Given the description of an element on the screen output the (x, y) to click on. 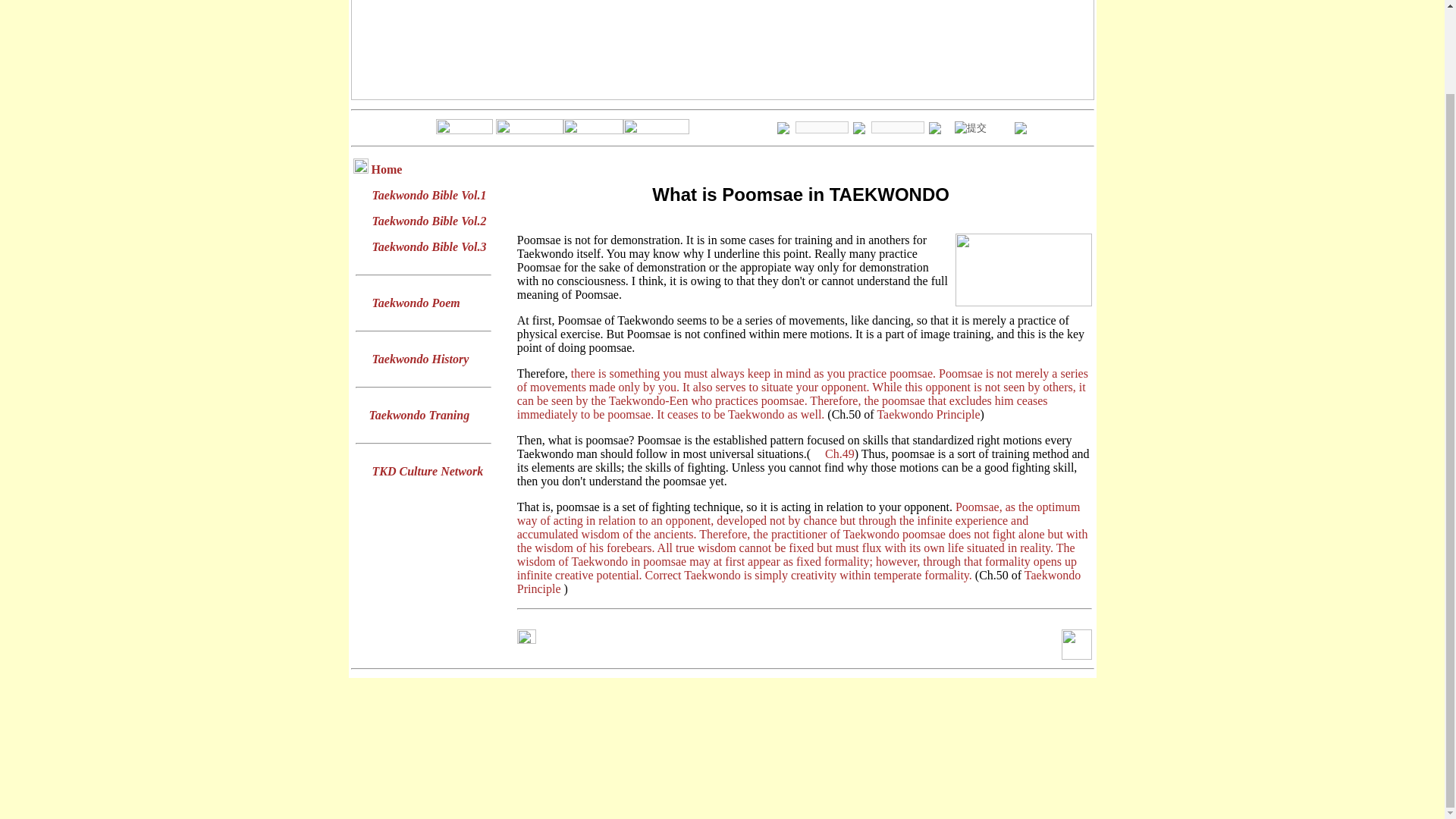
Taekwondo Poem (415, 302)
Ch.49 (839, 453)
Taekwondo Bible Vol.2 (428, 220)
Taekwondo Principle (927, 413)
Taekwondo Principle (798, 581)
Taekwondo Bible Vol.1 (428, 195)
Taekwondo Bible Vol.3 (428, 246)
TKD Culture Network (427, 471)
Taekwondo History (419, 358)
Taekwondo Traning (418, 414)
Home (387, 169)
